Given the description of an element on the screen output the (x, y) to click on. 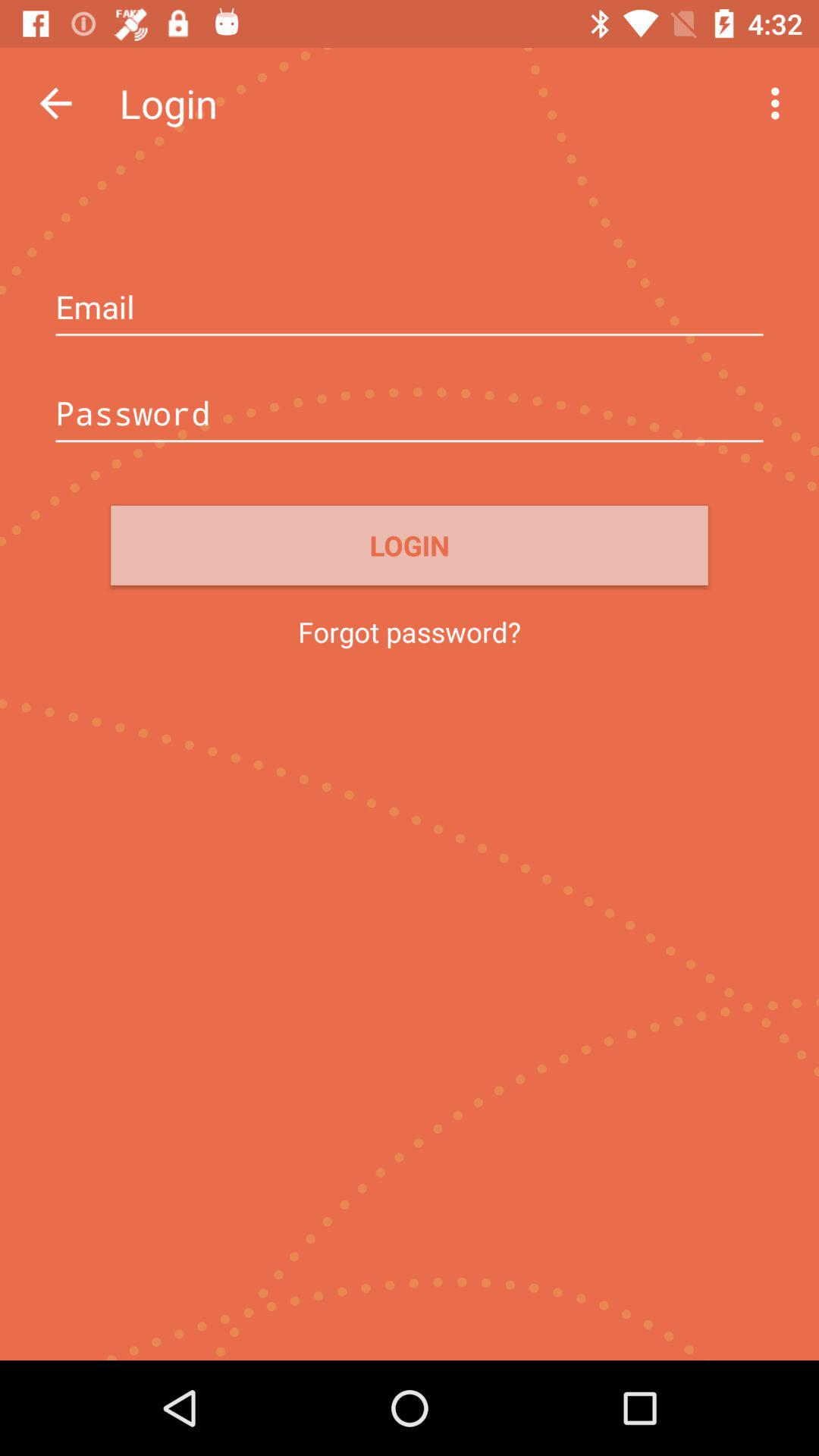
exit the login screen (55, 103)
